Given the description of an element on the screen output the (x, y) to click on. 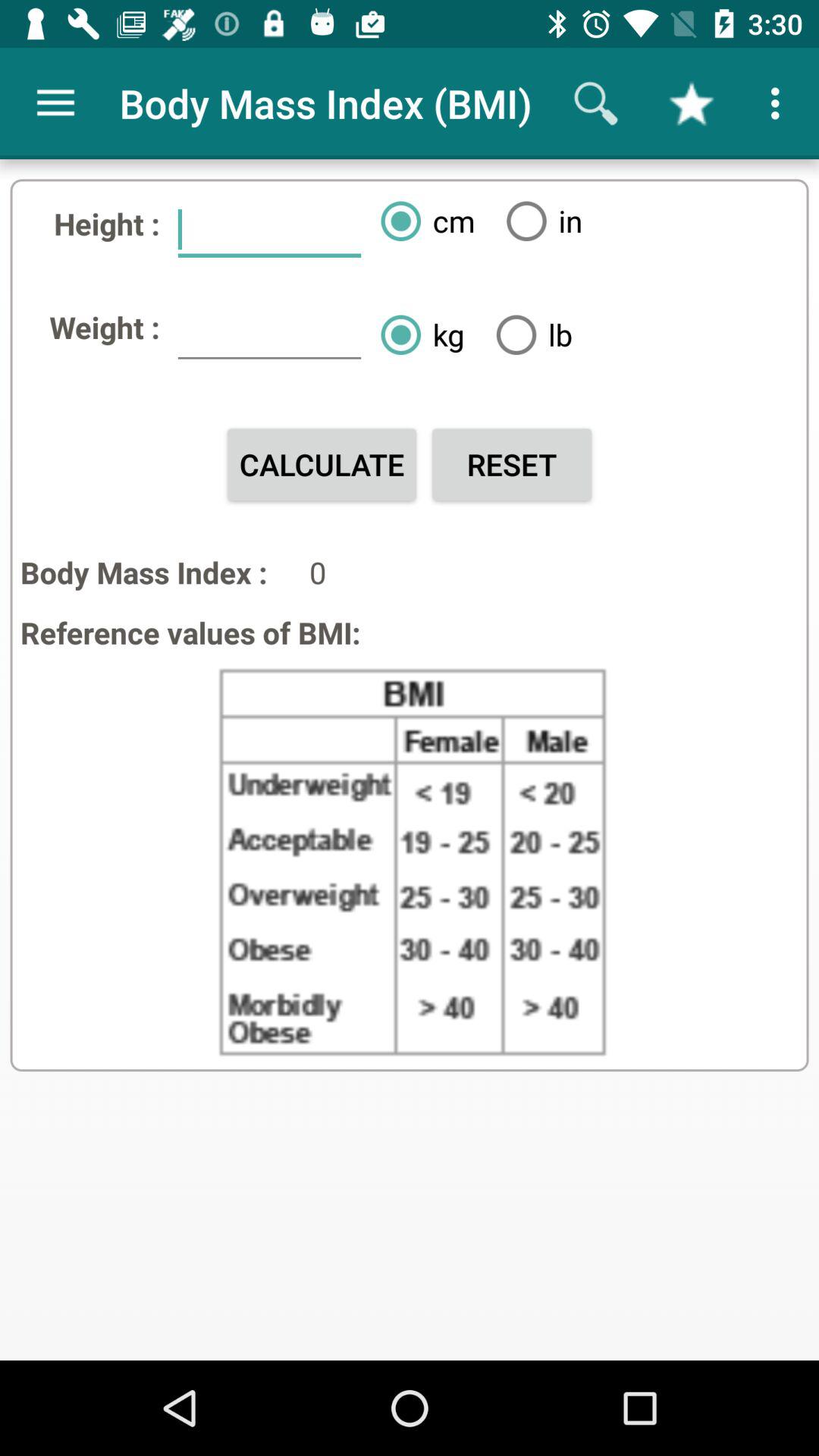
select the item to the left of the kg icon (269, 333)
